Given the description of an element on the screen output the (x, y) to click on. 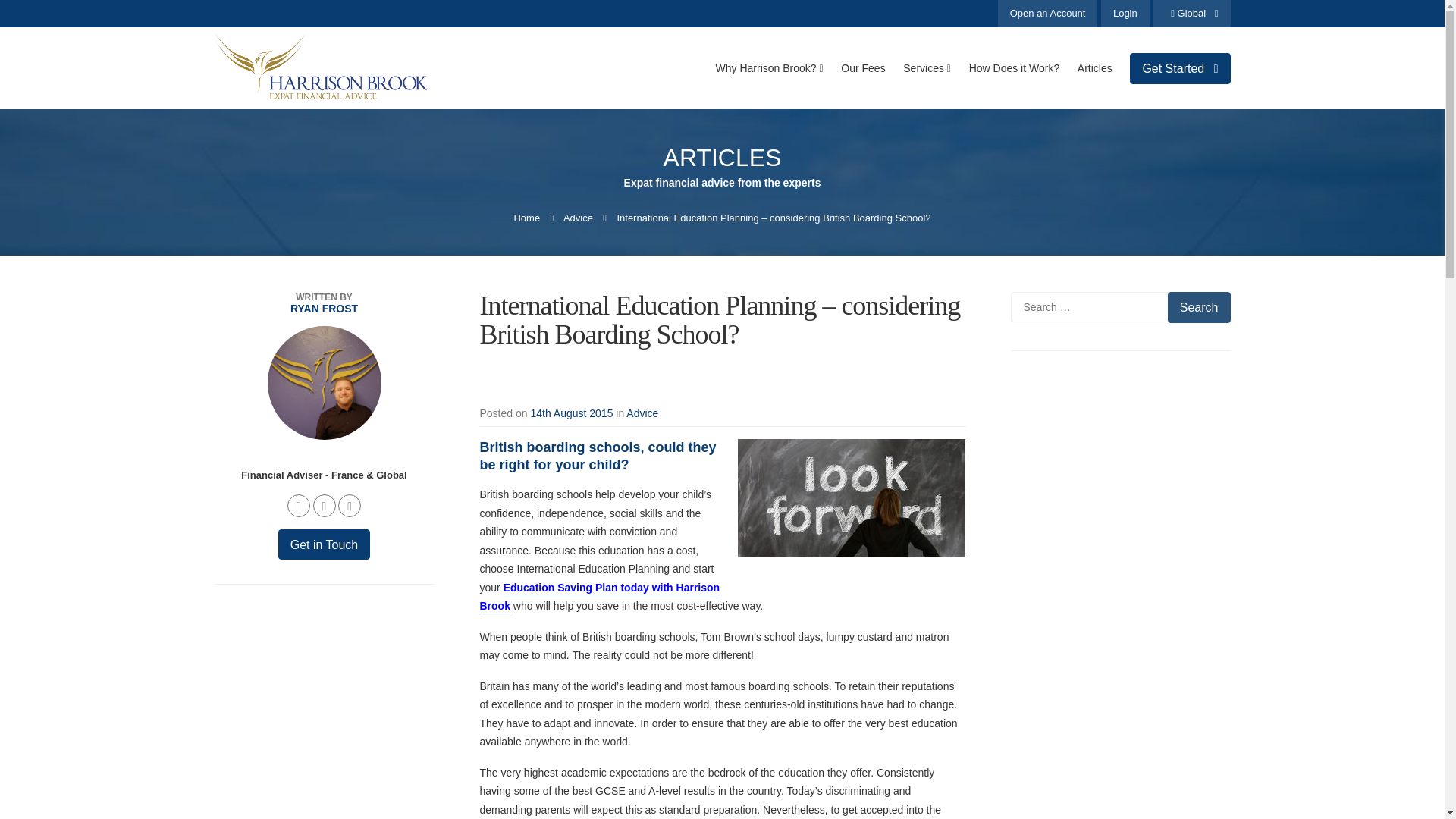
Search (1198, 306)
Open an Account (1047, 13)
Advice (577, 217)
Get Started (1179, 68)
Login (1125, 13)
Open a savings and investment account with Harrison Brook (1047, 13)
Global (1191, 13)
14th August 2015 (570, 413)
Home (526, 217)
Search (1198, 306)
How Does it Work? (1014, 67)
Why Harrison Brook? (770, 67)
RYAN FROST (323, 308)
